Given the description of an element on the screen output the (x, y) to click on. 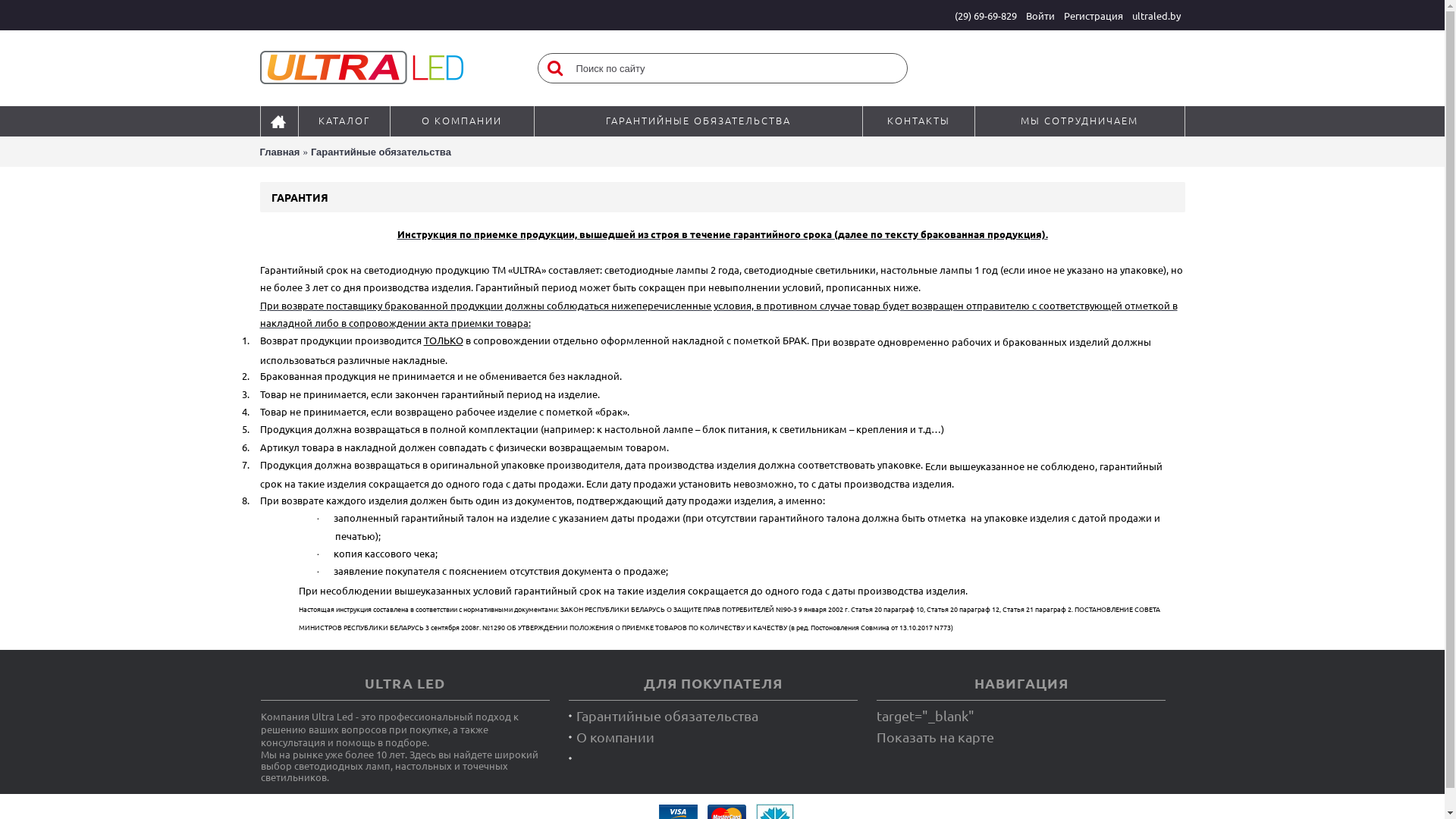
Ultra Led  Element type: hover (360, 68)
ultraled.by Element type: text (1155, 15)
(29) 69-69-829 Element type: text (984, 15)
